Given the description of an element on the screen output the (x, y) to click on. 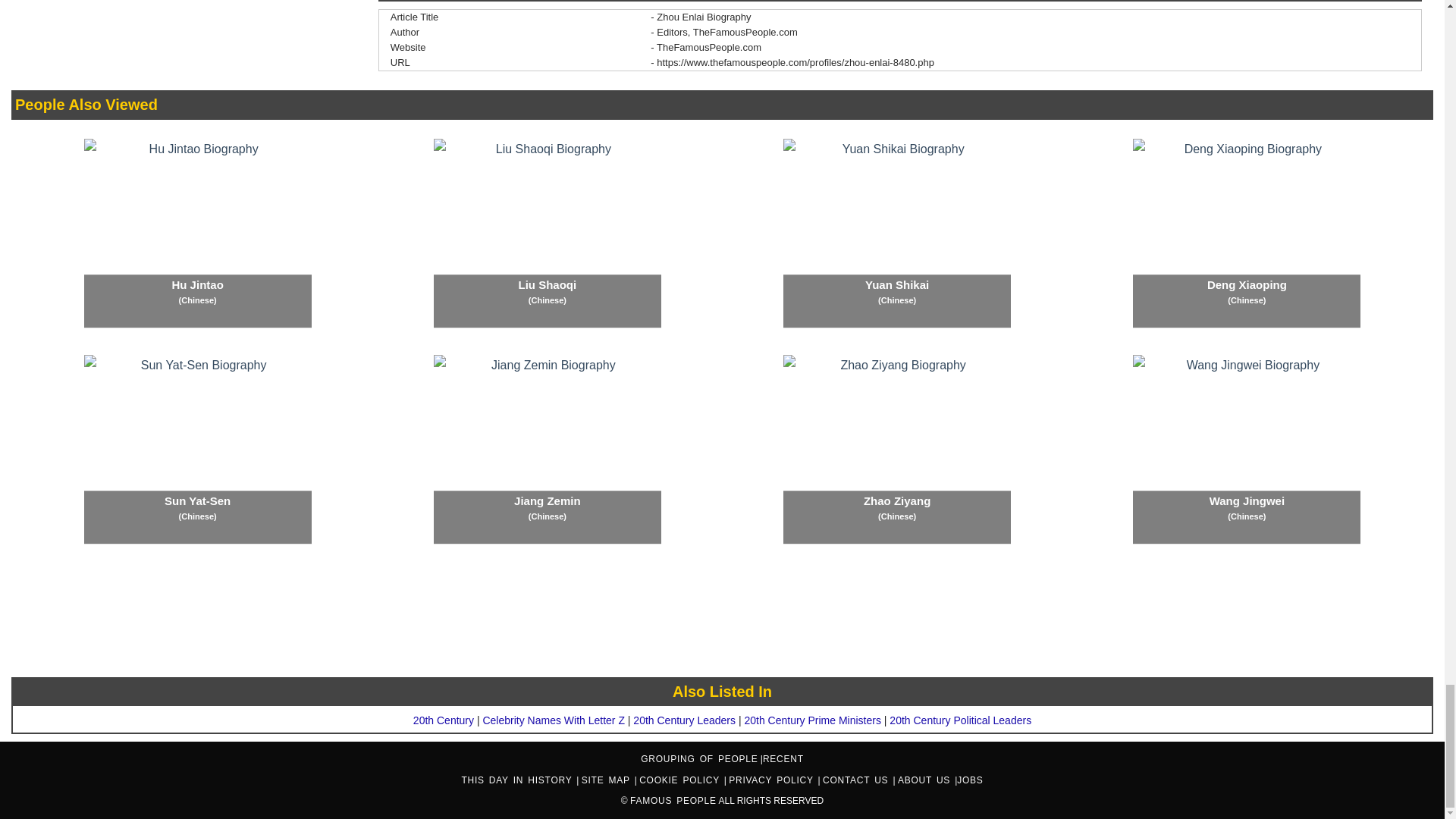
Deng Xiaoping (1245, 233)
Liu Shaoqi (547, 233)
Yuan Shikai (896, 233)
Hu Jintao (197, 233)
Jiang Zemin (547, 449)
Sun Yat-Sen (197, 449)
Wang Jingwei (1245, 449)
Zhao Ziyang (896, 449)
